Given the description of an element on the screen output the (x, y) to click on. 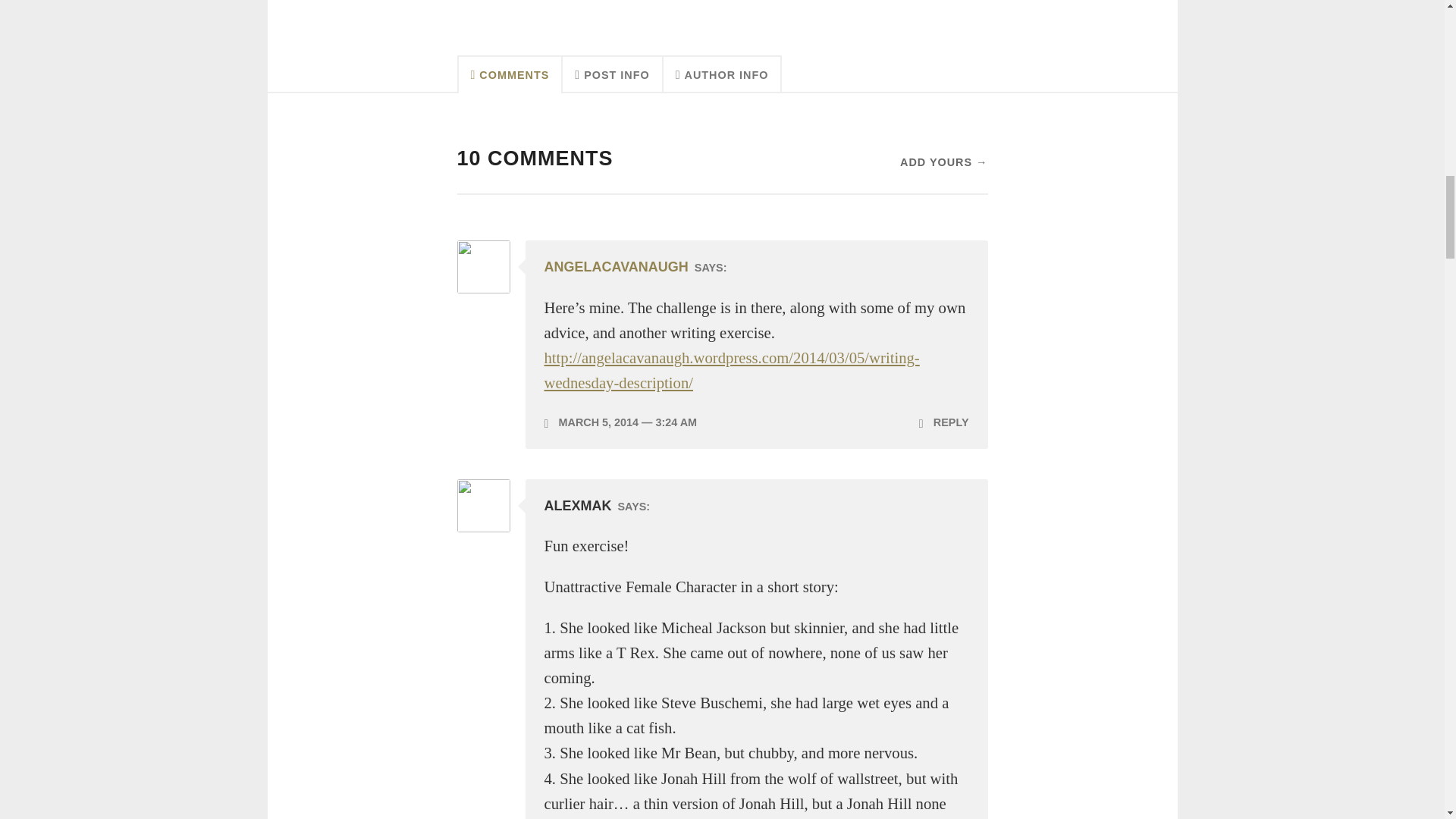
ANGELACAVANAUGH (616, 266)
POST INFO (612, 74)
REPLY (943, 422)
AUTHOR INFO (723, 74)
COMMENTS (509, 74)
